Given the description of an element on the screen output the (x, y) to click on. 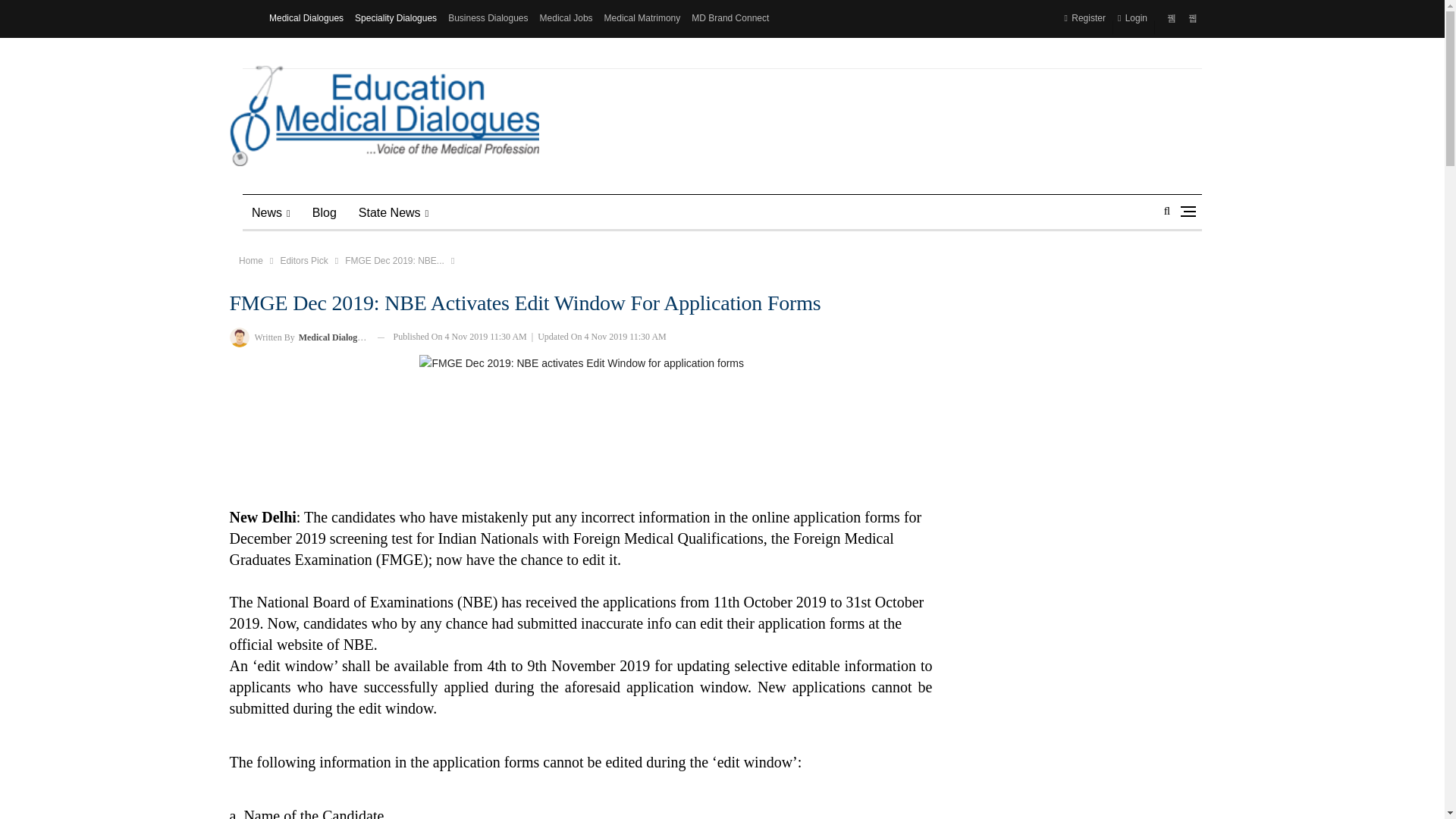
Business Dialogues (487, 18)
Education Medical Dialogues (384, 116)
Medical Dialogues Bureau (238, 337)
Medical Jobs (566, 18)
Blog (324, 212)
Medical Dialogues (306, 18)
News (271, 212)
MD Brand Connect (729, 18)
Medical Matrimony (642, 18)
